Given the description of an element on the screen output the (x, y) to click on. 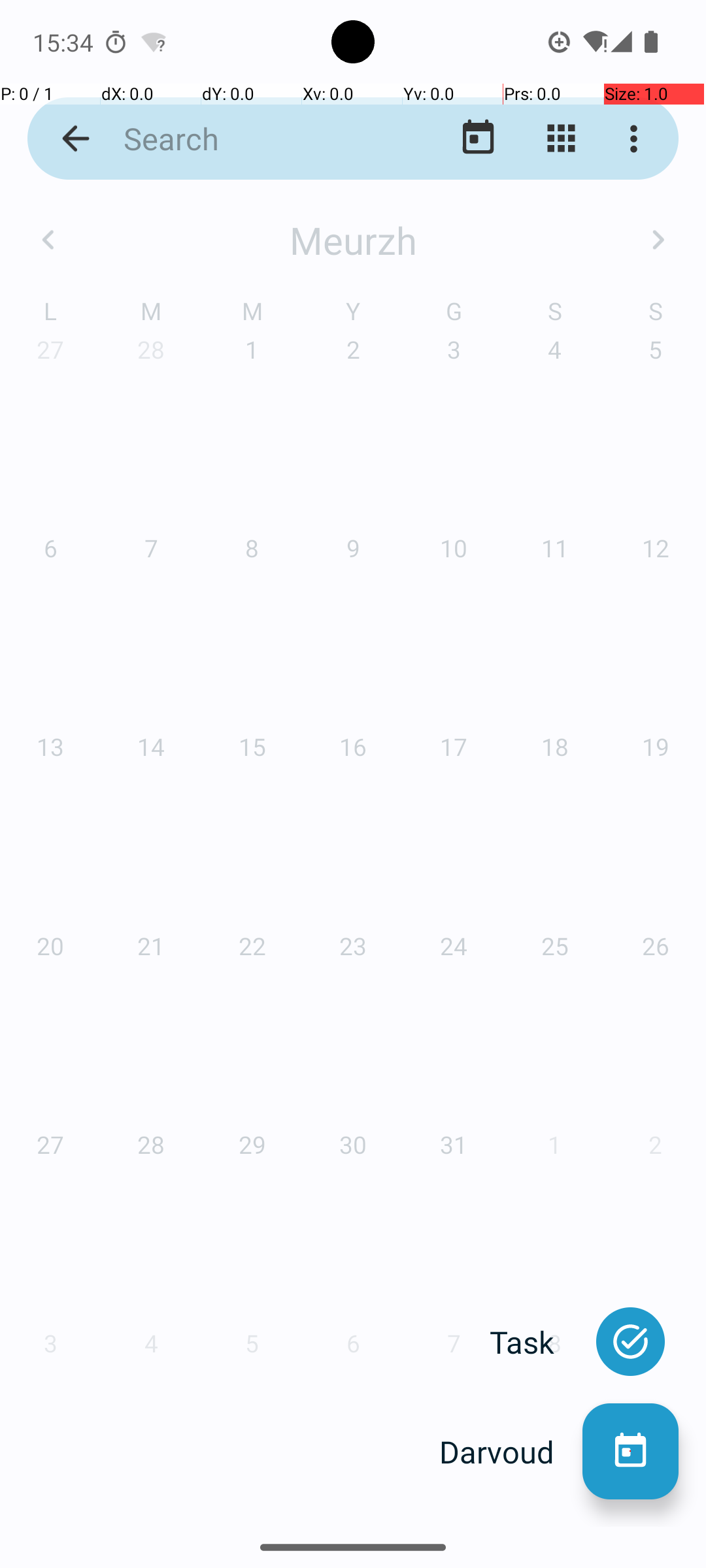
Mont da hiziv Element type: android.widget.Button (477, 138)
Kemmañ ar gwel Element type: android.widget.Button (560, 138)
Darvoud Element type: android.widget.TextView (510, 1451)
Darvoud nevez Element type: android.widget.ImageButton (630, 1451)
GENVER Element type: android.widget.TextView (123, 319)
C'HWEVRER Element type: android.widget.TextView (352, 319)
MEURZH Element type: android.widget.TextView (582, 319)
EBREL Element type: android.widget.TextView (123, 621)
MAE Element type: android.widget.TextView (352, 621)
MEZHEVEN Element type: android.widget.TextView (582, 621)
GOUERE Element type: android.widget.TextView (123, 923)
EOST Element type: android.widget.TextView (352, 923)
GWENGOLO Element type: android.widget.TextView (582, 923)
HERE Element type: android.widget.TextView (123, 1224)
DU Element type: android.widget.TextView (352, 1224)
KERZU Element type: android.widget.TextView (582, 1224)
Meurzh Element type: android.widget.TextView (352, 239)
